Given the description of an element on the screen output the (x, y) to click on. 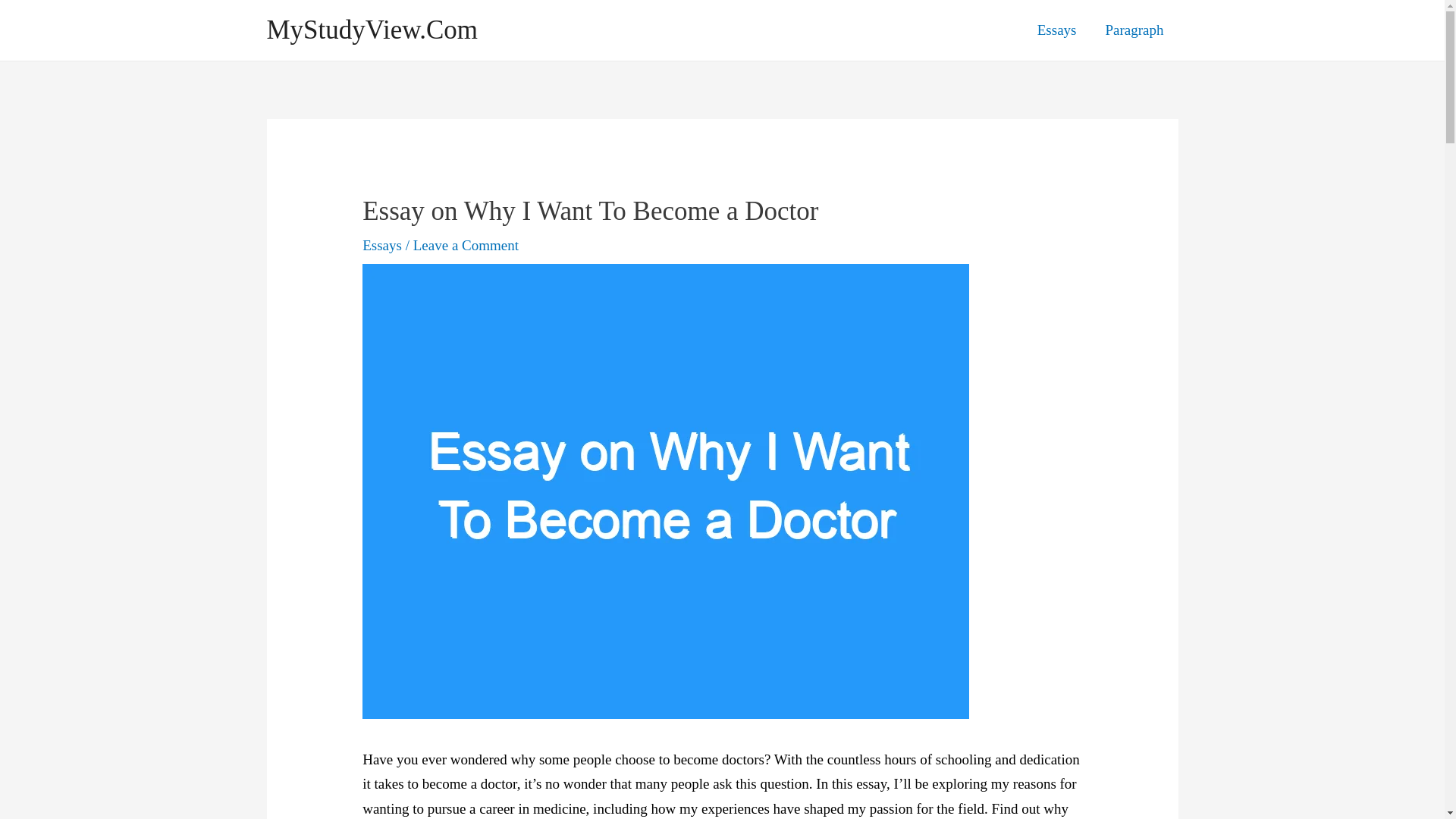
Paragraph (1133, 30)
Leave a Comment (465, 245)
Essays (1056, 30)
MyStudyView.Com (372, 30)
Essays (381, 245)
